Given the description of an element on the screen output the (x, y) to click on. 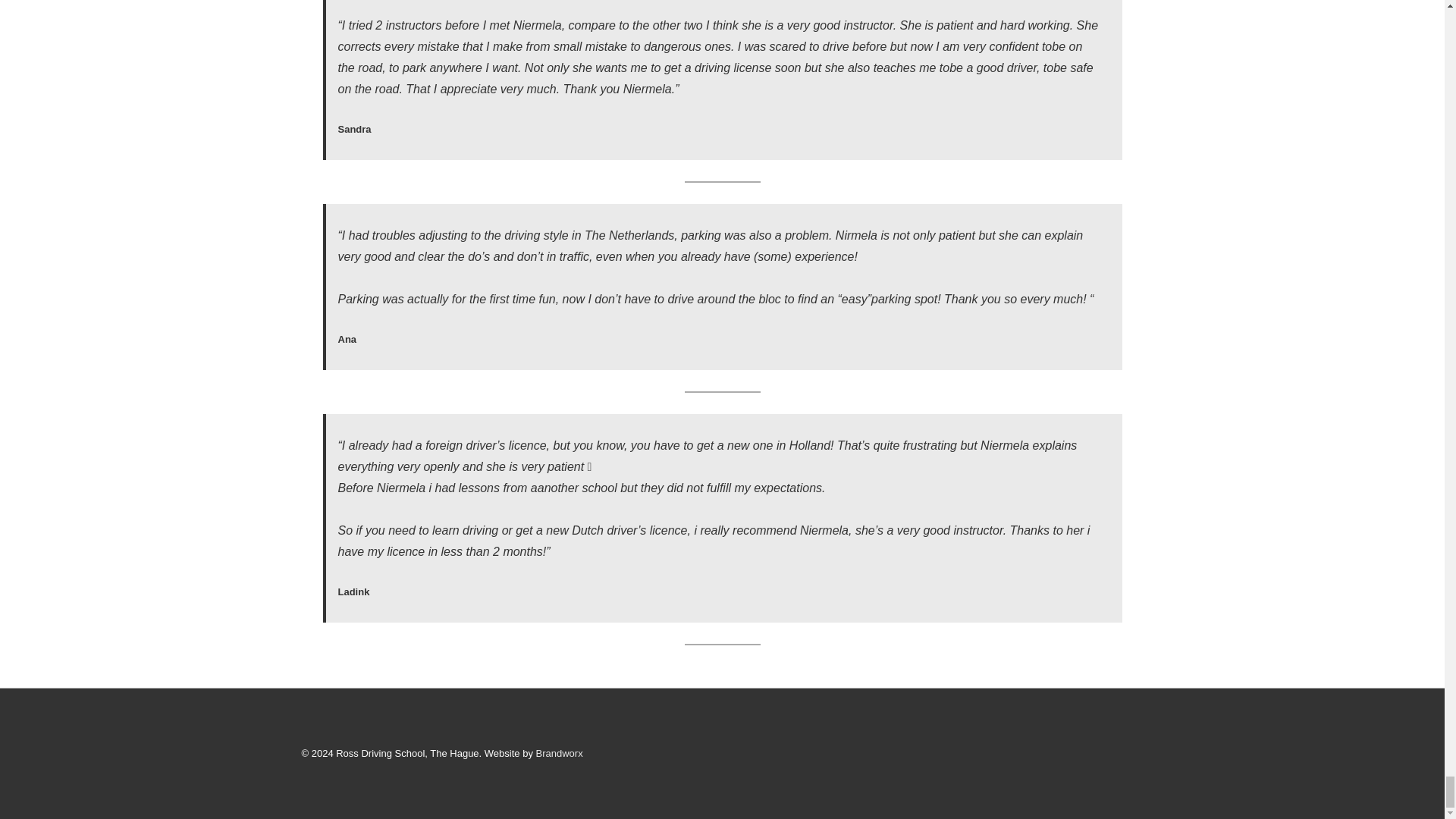
Brandworx (558, 753)
